Given the description of an element on the screen output the (x, y) to click on. 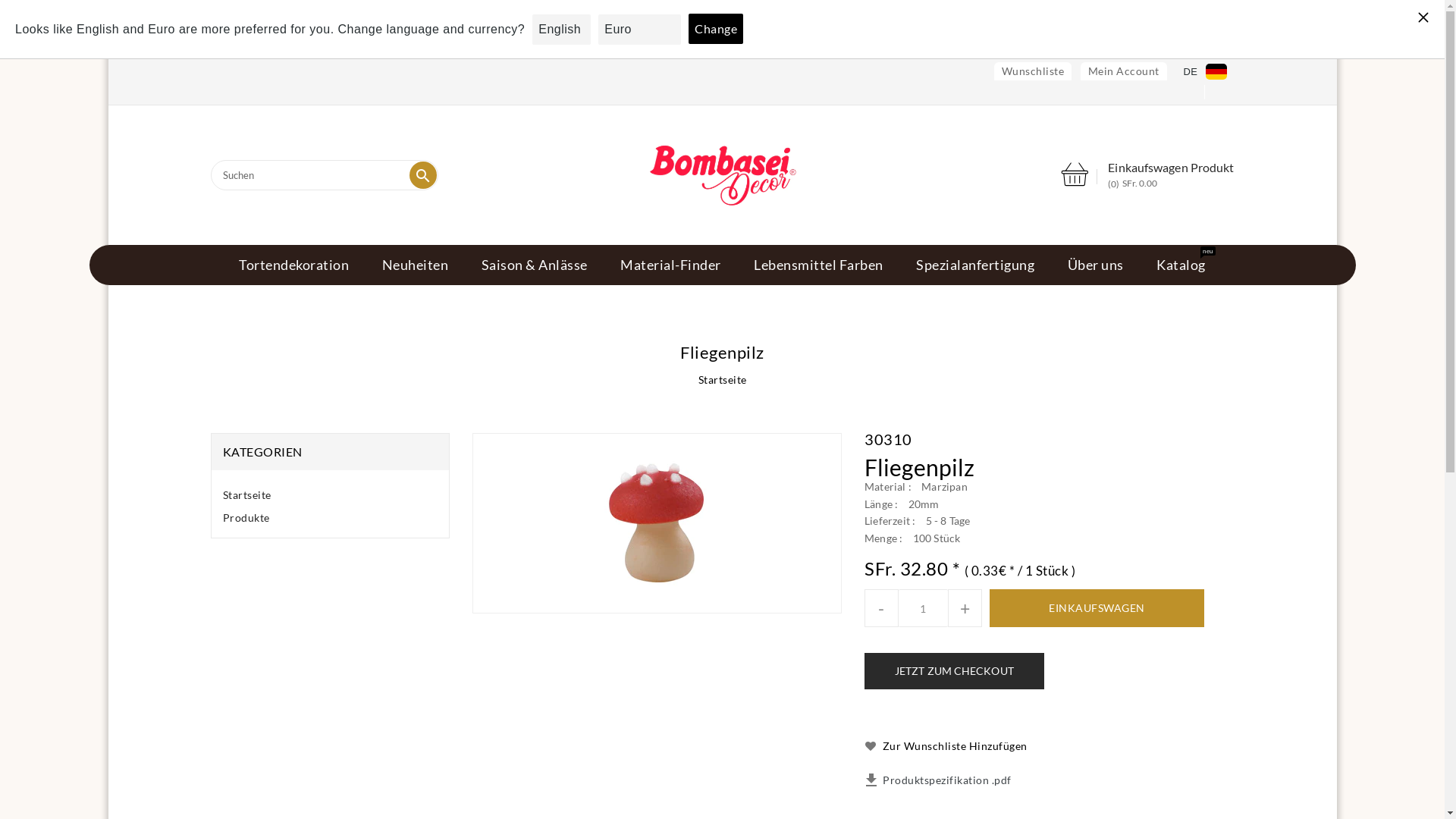
Produktspezifikation .pdf Element type: text (946, 780)
Lebensmittel Farben Element type: text (818, 264)
Direkt zum Inhalt Element type: text (107, 37)
EINKAUFSWAGEN Element type: text (1096, 608)
Startseite Element type: text (246, 494)
Neuheiten Element type: text (415, 264)
Wunschliste Element type: text (1032, 70)
Startseite Element type: text (721, 379)
Katalog
neu Element type: text (1180, 264)
JETZT ZUM CHECKOUT Element type: text (954, 671)
Produkte Element type: text (245, 517)
Material-Finder Element type: text (670, 264)
Tortendekoration Element type: text (293, 264)
Spezialanfertigung Element type: text (974, 264)
search Element type: text (422, 174)
Mein Account Element type: text (1123, 71)
